Given the description of an element on the screen output the (x, y) to click on. 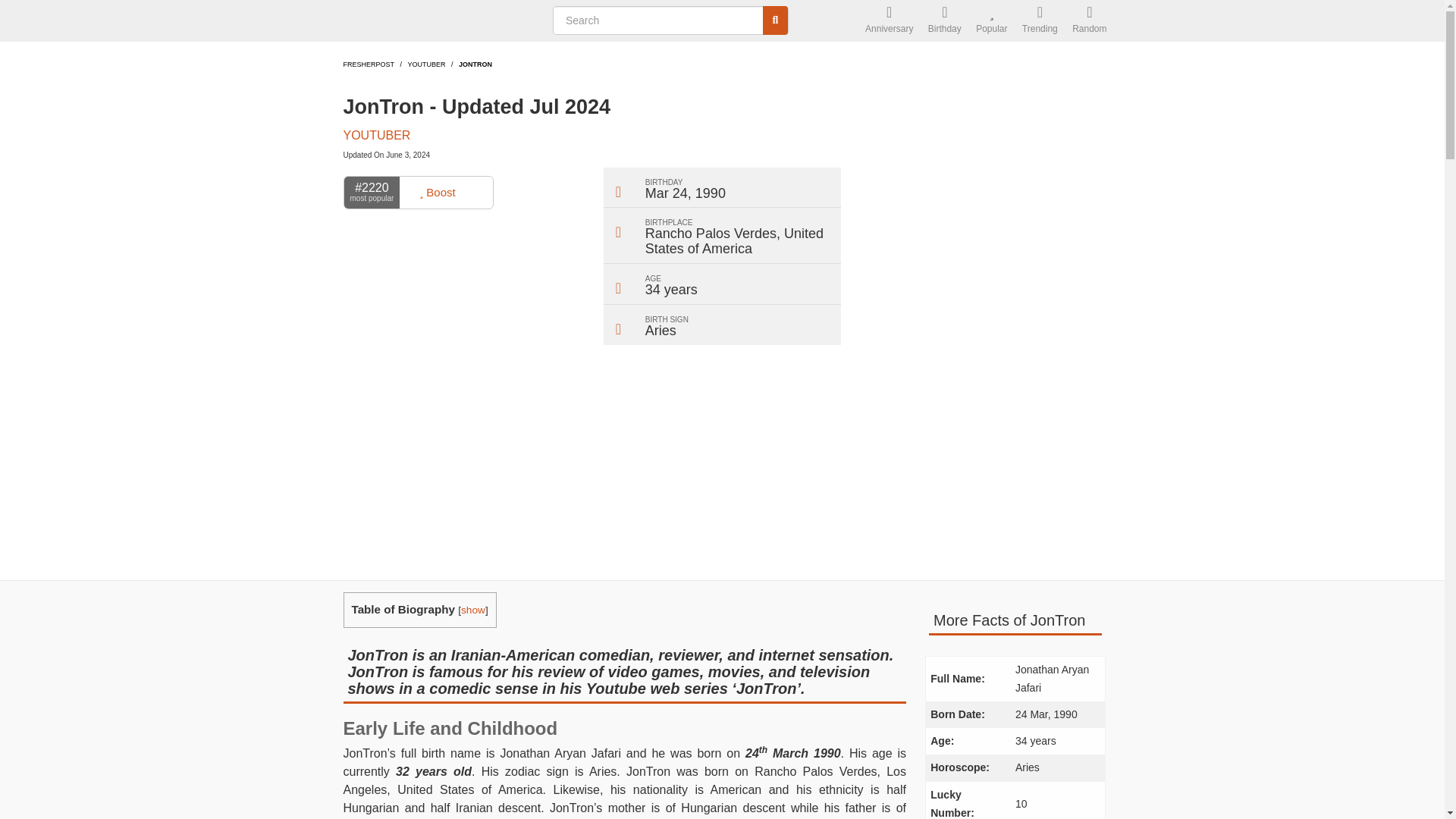
Fresher Post (438, 21)
YouTuber (426, 63)
YOUTUBER (376, 134)
Boost (437, 192)
Trending (1040, 21)
Popular (991, 21)
random (1088, 21)
Today Birthday (944, 21)
Popular (991, 21)
Birthday (944, 21)
Mar 24, 1990 (685, 192)
United States of America (734, 241)
Random (1088, 21)
Search (775, 20)
34 years (671, 289)
